Given the description of an element on the screen output the (x, y) to click on. 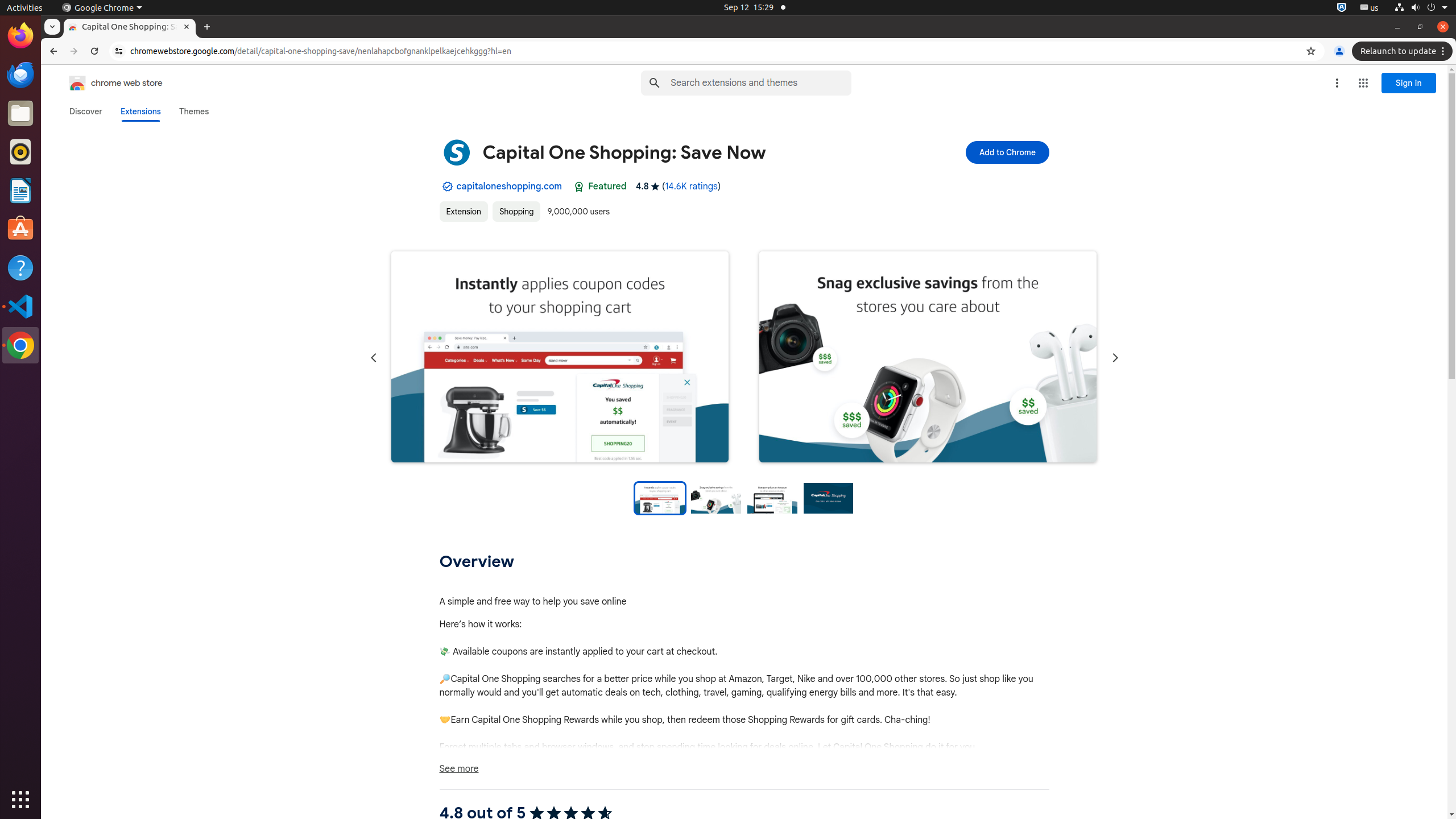
Reload Element type: push-button (94, 50)
Ubuntu Software Element type: push-button (20, 229)
Google Chrome Element type: menu (101, 7)
See more Element type: push-button (744, 768)
View site information Element type: push-button (118, 51)
